Given the description of an element on the screen output the (x, y) to click on. 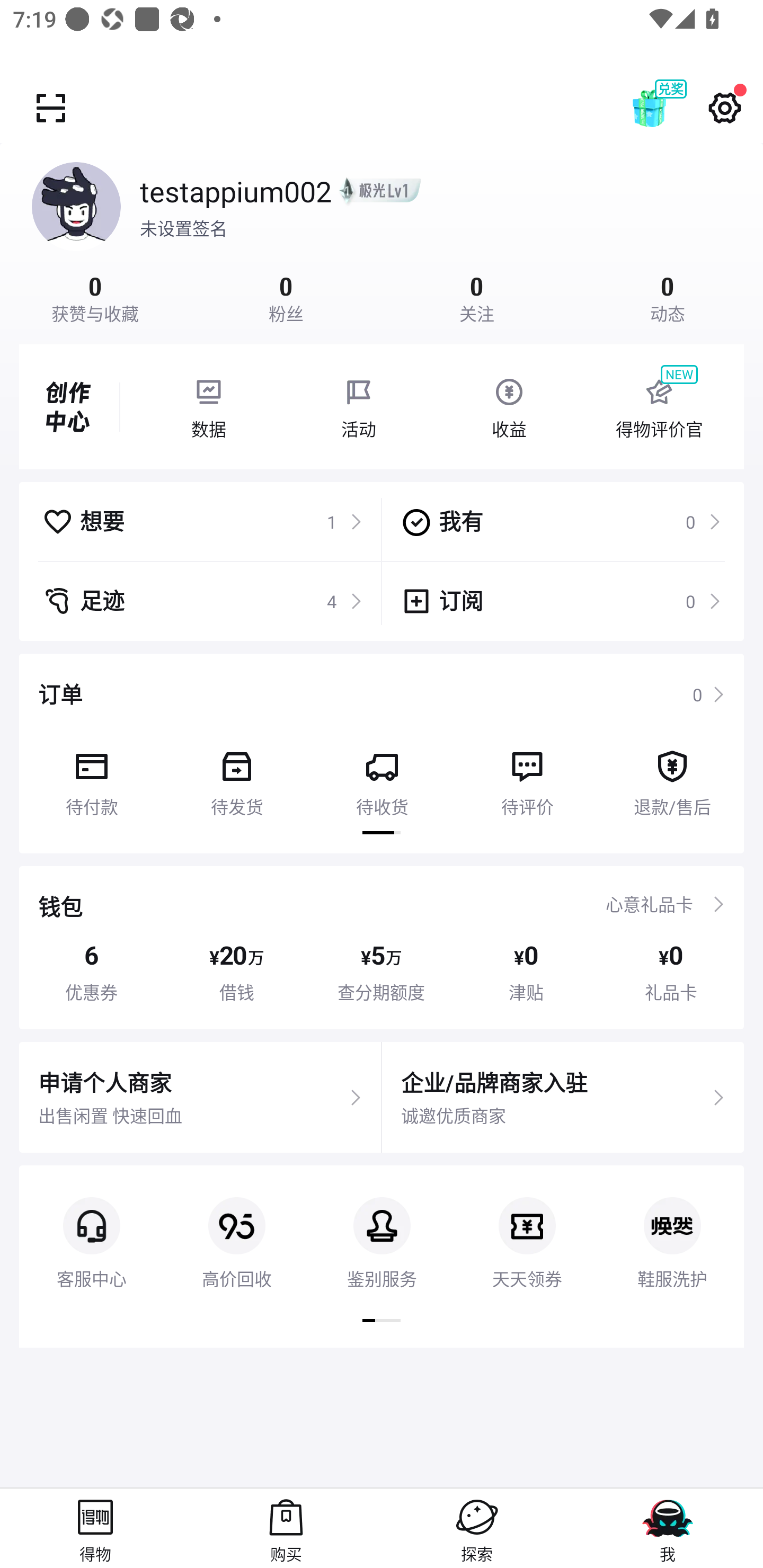
兑奖 (667, 107)
testappium002 未设置签名 0 获赞与收藏 0 粉丝 0 关注 0 动态 (381, 233)
0 获赞与收藏 (95, 296)
0 粉丝 (285, 296)
0 关注 (476, 296)
0 动态 (667, 296)
数据 (208, 406)
活动 (358, 406)
收益 (508, 406)
NEW 得物评价官 (658, 406)
想要 1 (201, 521)
我有 0 (560, 521)
足迹 4 (201, 601)
订阅 0 (560, 601)
订单 0 待付款 待发货 待收货 待评价 退款/售后 (381, 752)
待付款 (91, 776)
待发货 (236, 776)
待收货 (381, 776)
待评价 (526, 776)
退款/售后 (671, 776)
心意礼品卡 (648, 903)
6 优惠券 (91, 971)
¥ 20 万 借钱 (236, 971)
¥ 5 万 查分期额度 (381, 971)
¥ 0 津贴 (525, 971)
¥ 0 礼品卡 (670, 971)
申请个人商家 出售闲置 快速回血 (199, 1097)
企业/品牌商家入驻 诚邀优质商家 (562, 1097)
客服中心 (91, 1227)
高价回收 (236, 1227)
鉴别服务 (381, 1227)
天天领券 (526, 1227)
鞋服洗护 (671, 1227)
得物 (95, 1528)
购买 (285, 1528)
探索 (476, 1528)
我 (667, 1528)
